Given the description of an element on the screen output the (x, y) to click on. 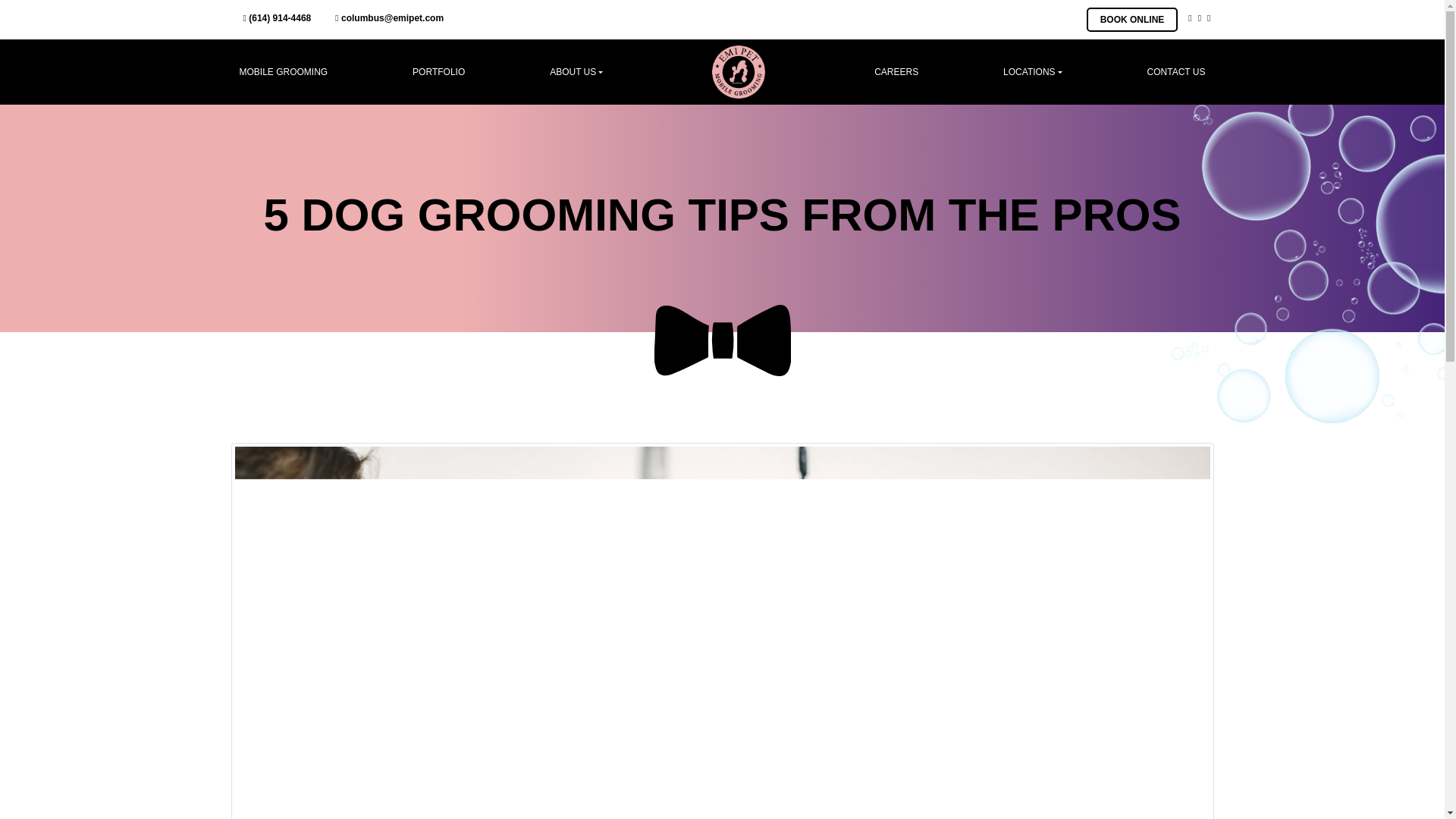
Mobile Grooming (283, 71)
MOBILE GROOMING (283, 71)
Contact Us (1176, 71)
BOOK ONLINE (1131, 19)
Locations (1032, 71)
About Us (575, 71)
CONTACT US (1176, 71)
ABOUT US (575, 71)
Portfolio (438, 71)
LOCATIONS (1032, 71)
